Given the description of an element on the screen output the (x, y) to click on. 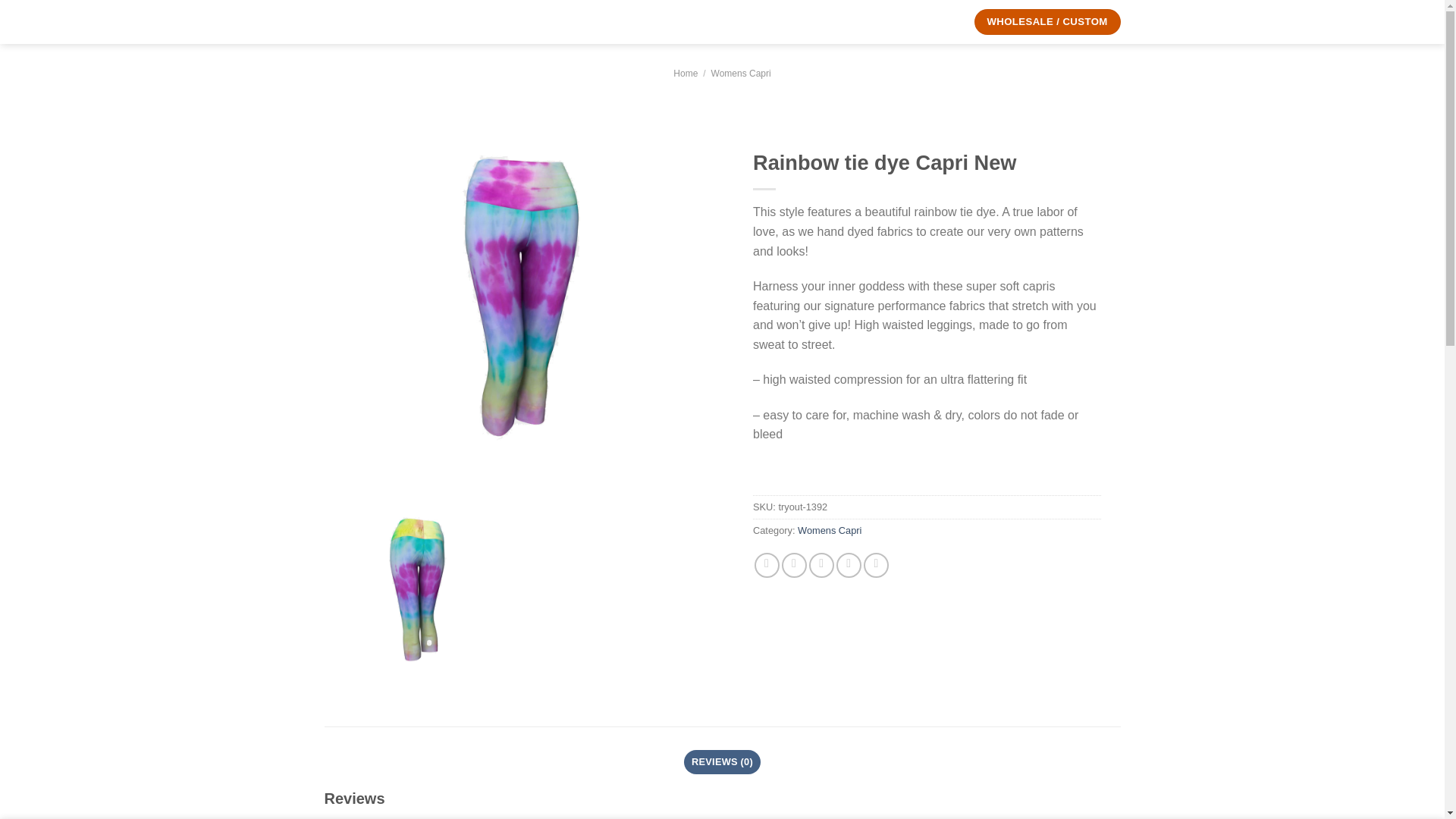
Share on LinkedIn (875, 565)
Share on Facebook (766, 565)
Womens Capri (829, 530)
Share on Twitter (793, 565)
Home (684, 72)
Pin on Pinterest (848, 565)
Team Uniforms (600, 21)
Fitness (669, 21)
TRYOUT  SPORTS - Sports Apparel manufacturing company (376, 21)
Womens Capri (741, 72)
Email to a Friend (821, 565)
Custom Apparel (507, 21)
Our Company (910, 21)
